Given the description of an element on the screen output the (x, y) to click on. 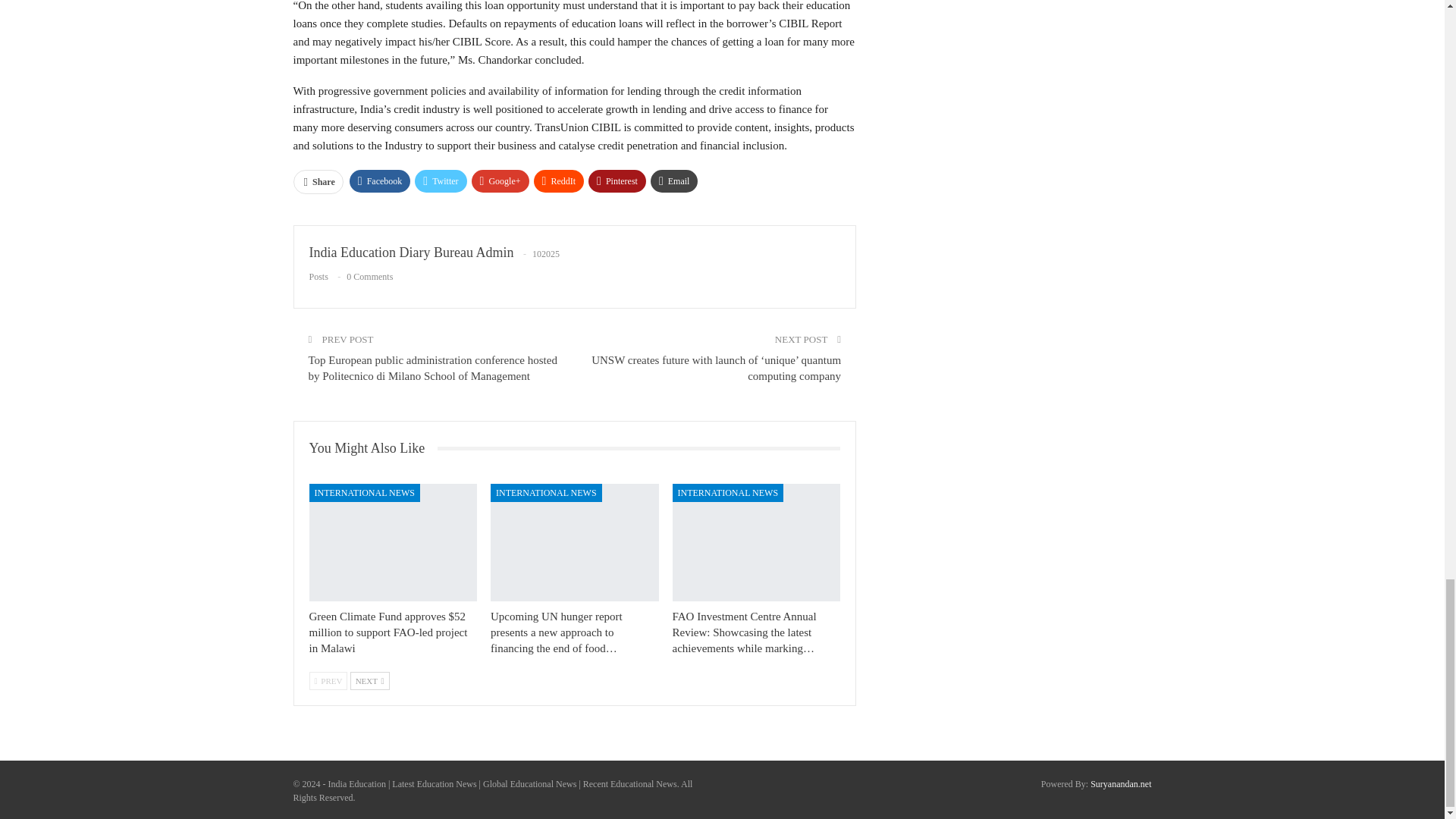
Previous (327, 680)
Next (370, 680)
